Given the description of an element on the screen output the (x, y) to click on. 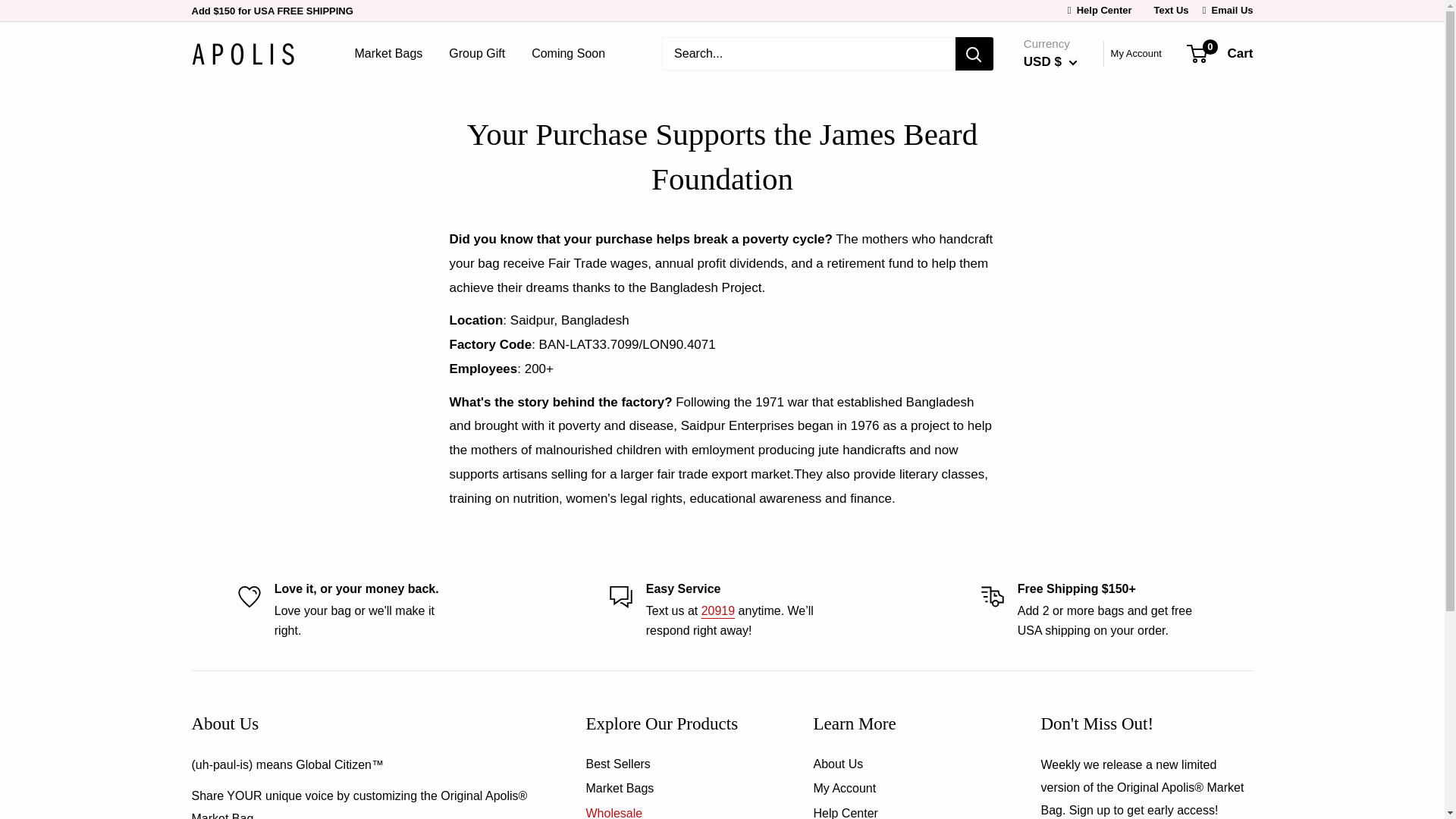
  Text Us (1168, 9)
BBD (1074, 316)
BND (1074, 409)
BDT (1074, 339)
AMD (1074, 177)
  Help Center (1099, 9)
AUD (1074, 223)
Group Gift (476, 53)
AFN (1074, 130)
ANG (1074, 200)
BAM (1074, 293)
AWG (1074, 247)
BGN (1074, 362)
AZN (1074, 270)
  Email Us (1227, 9)
